Given the description of an element on the screen output the (x, y) to click on. 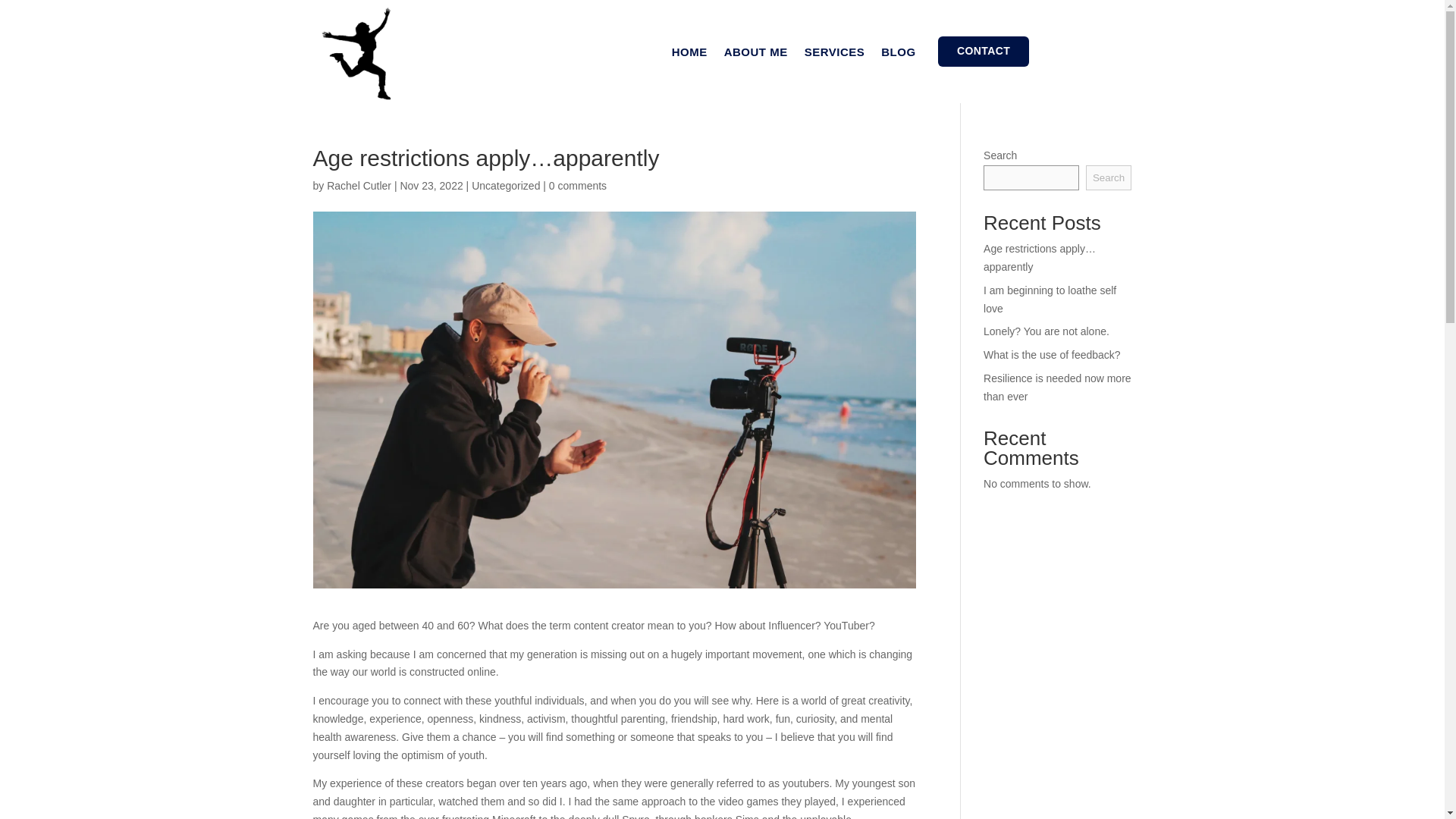
Posts by Rachel Cutler (358, 185)
Rachel Cutler (358, 185)
SERVICES (834, 54)
0 comments (577, 185)
BLOG (897, 54)
ABOUT ME (755, 54)
HOME (689, 54)
CONTACT (983, 51)
Resilience is needed now more than ever (1057, 387)
Search (1109, 177)
Uncategorized (505, 185)
Lonely? You are not alone. (1046, 331)
I am beginning to loathe self love (1050, 299)
What is the use of feedback? (1052, 354)
